Given the description of an element on the screen output the (x, y) to click on. 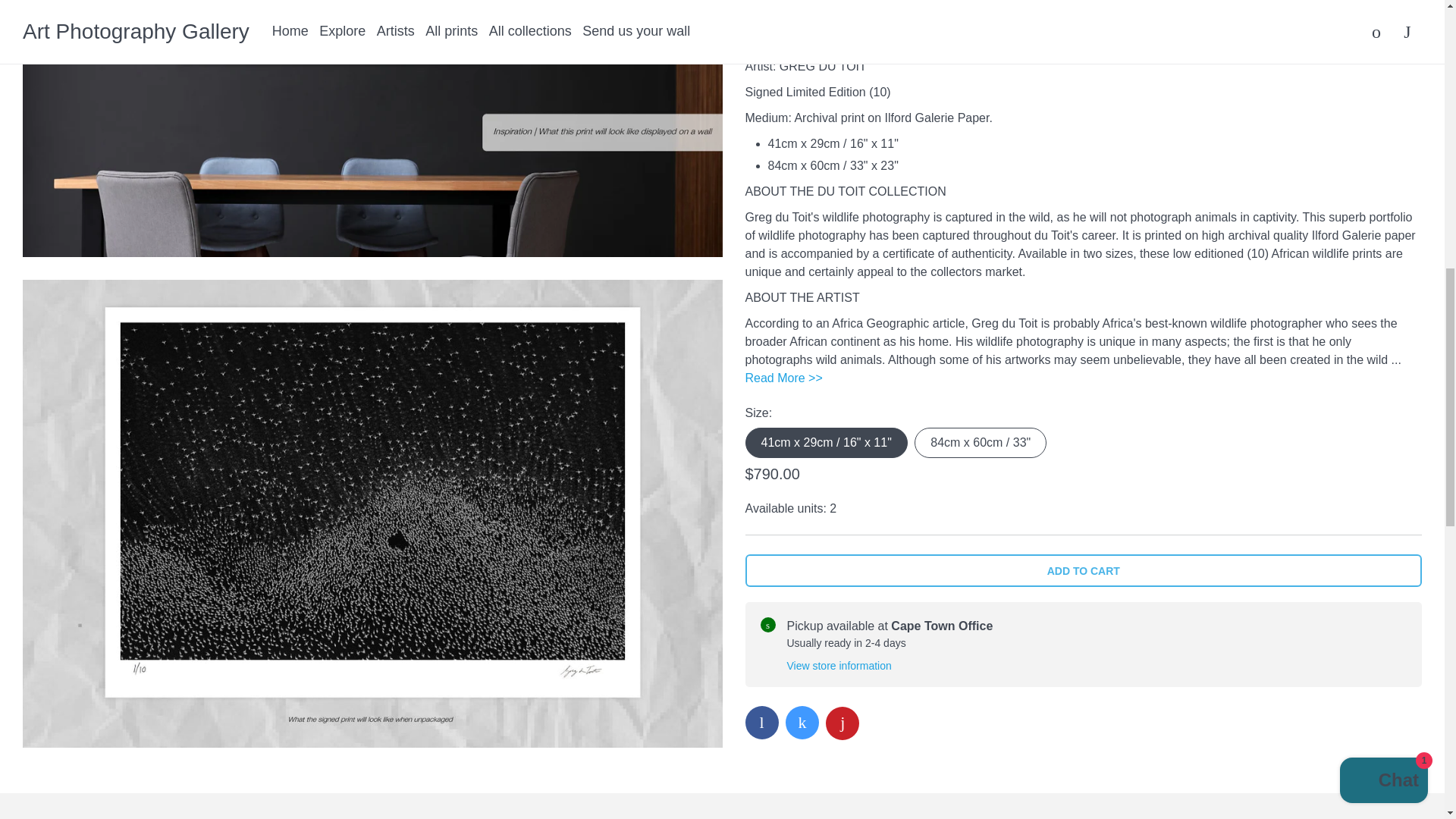
Share on Pinterest (842, 81)
Share on Facebook (760, 80)
Share on Twitter (802, 80)
